Given the description of an element on the screen output the (x, y) to click on. 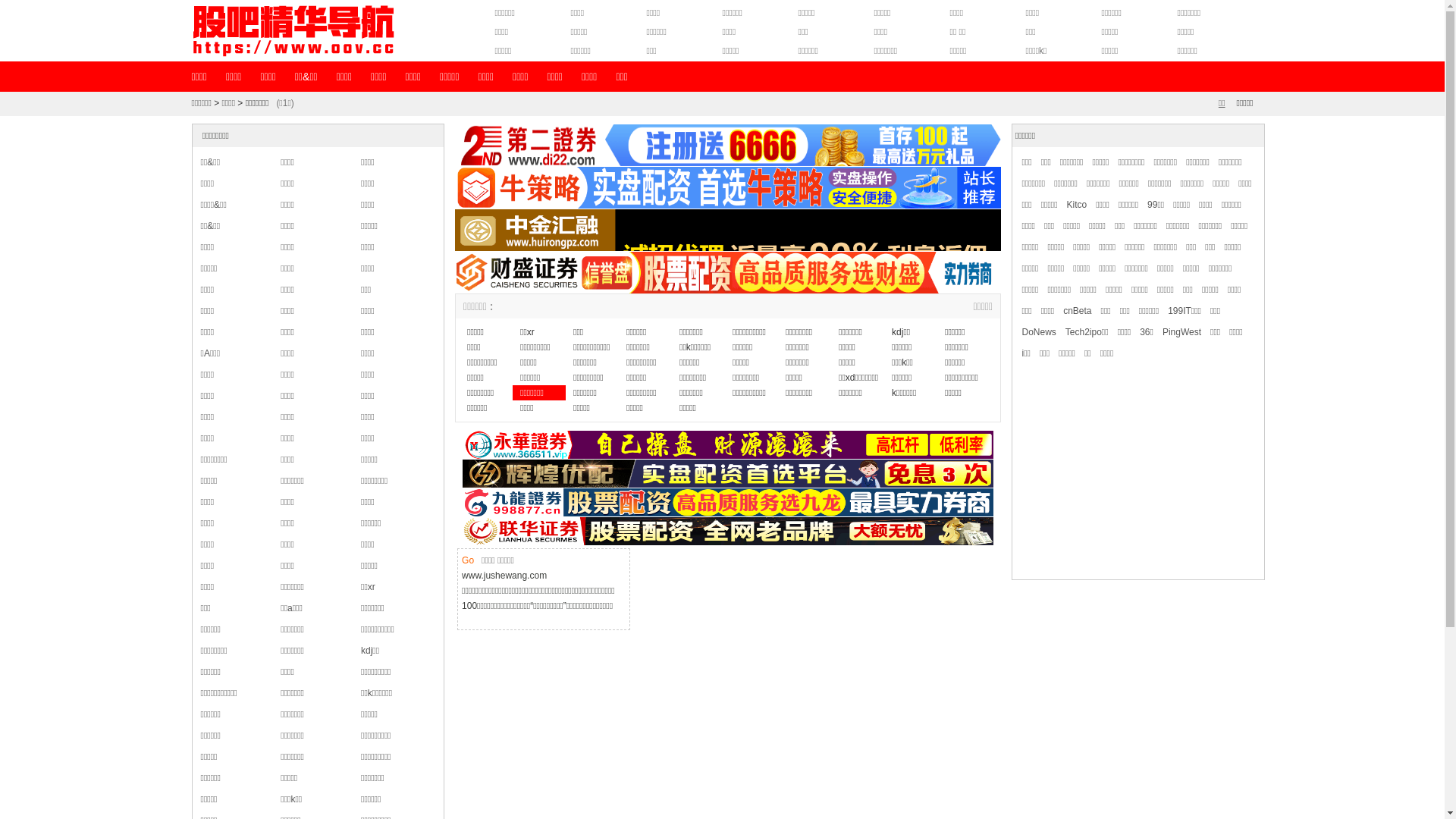
Kitco Element type: text (1076, 204)
cnBeta Element type: text (1076, 310)
Go Element type: text (467, 560)
DoNews Element type: text (1038, 331)
PingWest Element type: text (1181, 331)
